Given the description of an element on the screen output the (x, y) to click on. 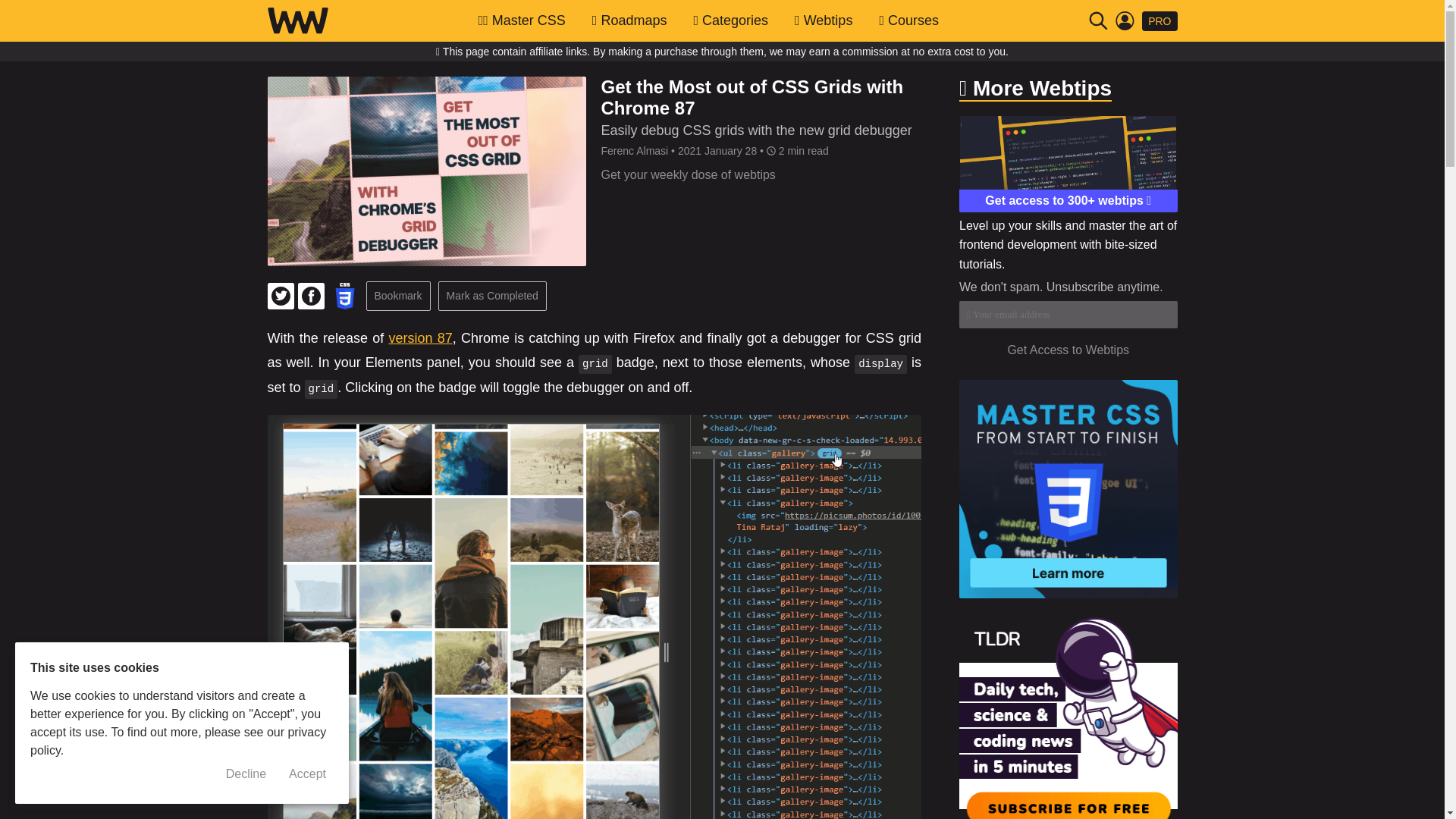
Mark as Completed (492, 296)
Bookmark (397, 296)
Get Access to Webtips (1068, 349)
version 87 (419, 337)
PRO (1158, 20)
